Given the description of an element on the screen output the (x, y) to click on. 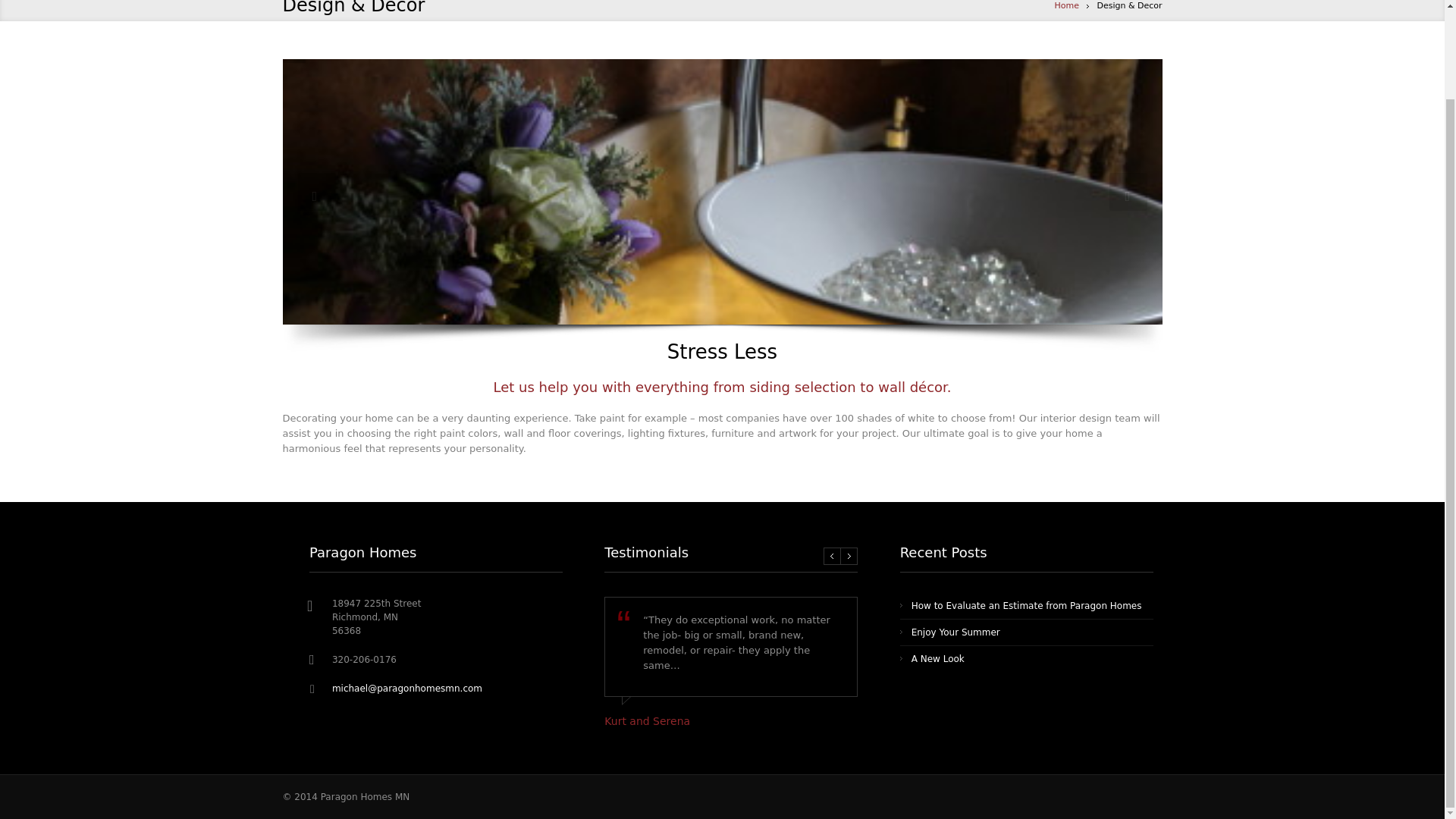
Enjoy Your Summer (955, 632)
Enjoy Your Summer (955, 632)
How to Evaluate an Estimate from Paragon Homes (1026, 605)
How to Evaluate an Estimate from Paragon Homes (1026, 605)
A New Look (937, 658)
A New Look (937, 658)
Home (1066, 5)
